Given the description of an element on the screen output the (x, y) to click on. 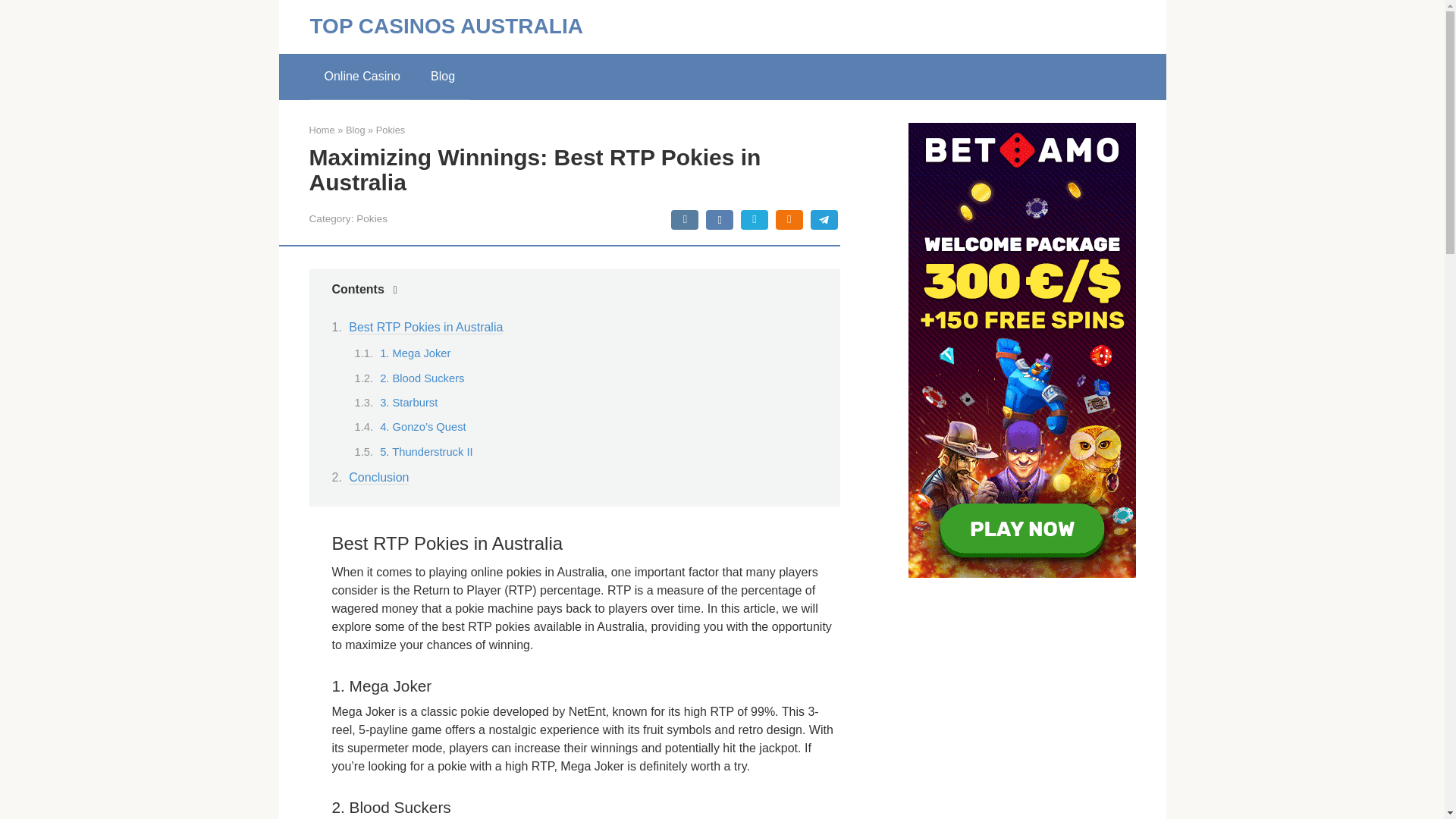
2. Blood Suckers (422, 378)
Online Casino (362, 76)
5. Thunderstruck II (425, 451)
Blog (355, 129)
Blog (442, 76)
Conclusion (379, 477)
TOP CASINOS AUSTRALIA (445, 25)
Pokies (371, 218)
1. Mega Joker (414, 353)
Pokies (389, 129)
3. Starburst (409, 402)
Home (321, 129)
Best RTP Pokies in Australia (425, 327)
